Given the description of an element on the screen output the (x, y) to click on. 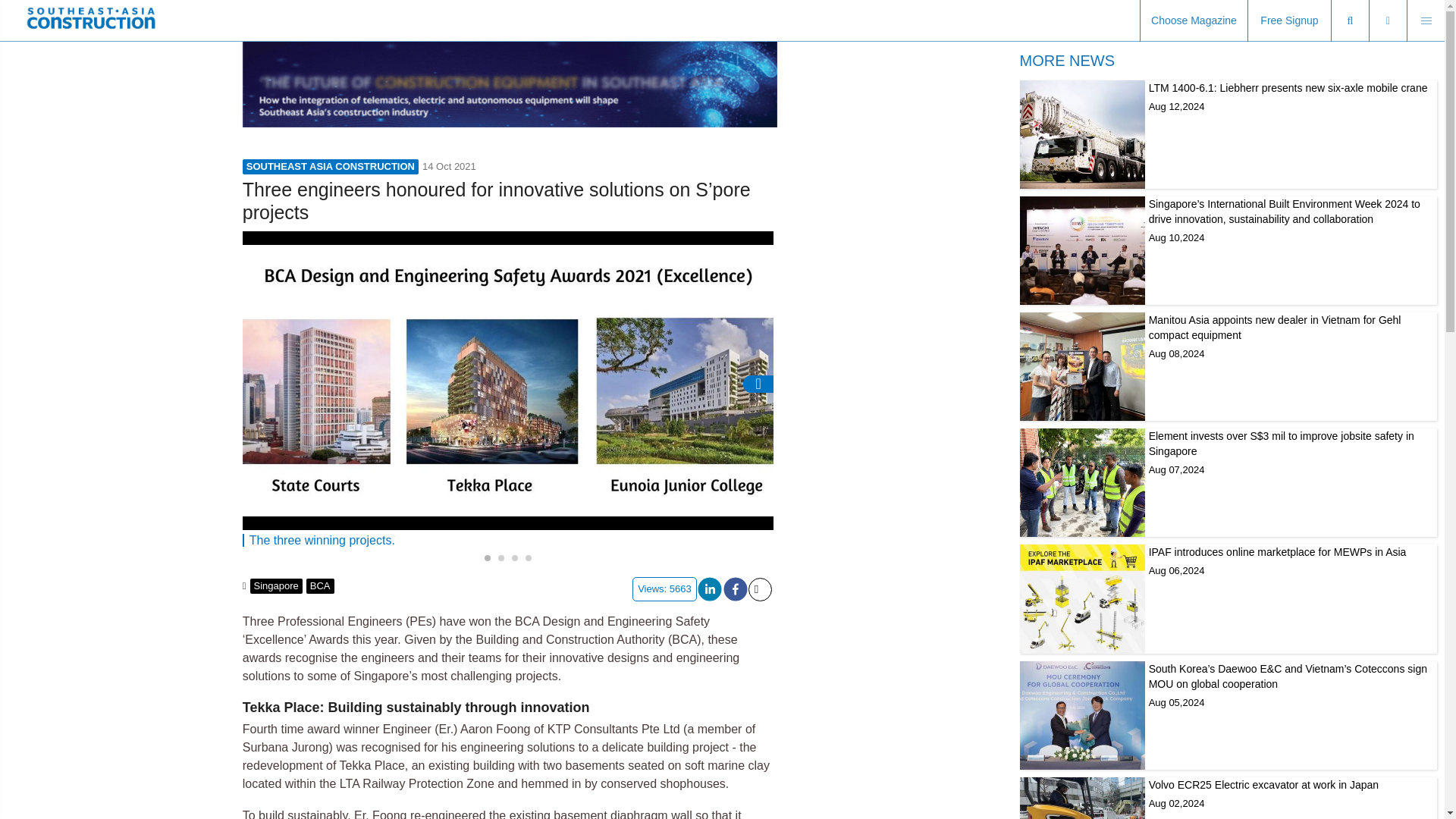
Choose Magazine (1193, 20)
Free Signup (1288, 20)
Singapore (276, 585)
SOUTHEAST ASIA CONSTRUCTION (331, 166)
BCA (1228, 798)
